Given the description of an element on the screen output the (x, y) to click on. 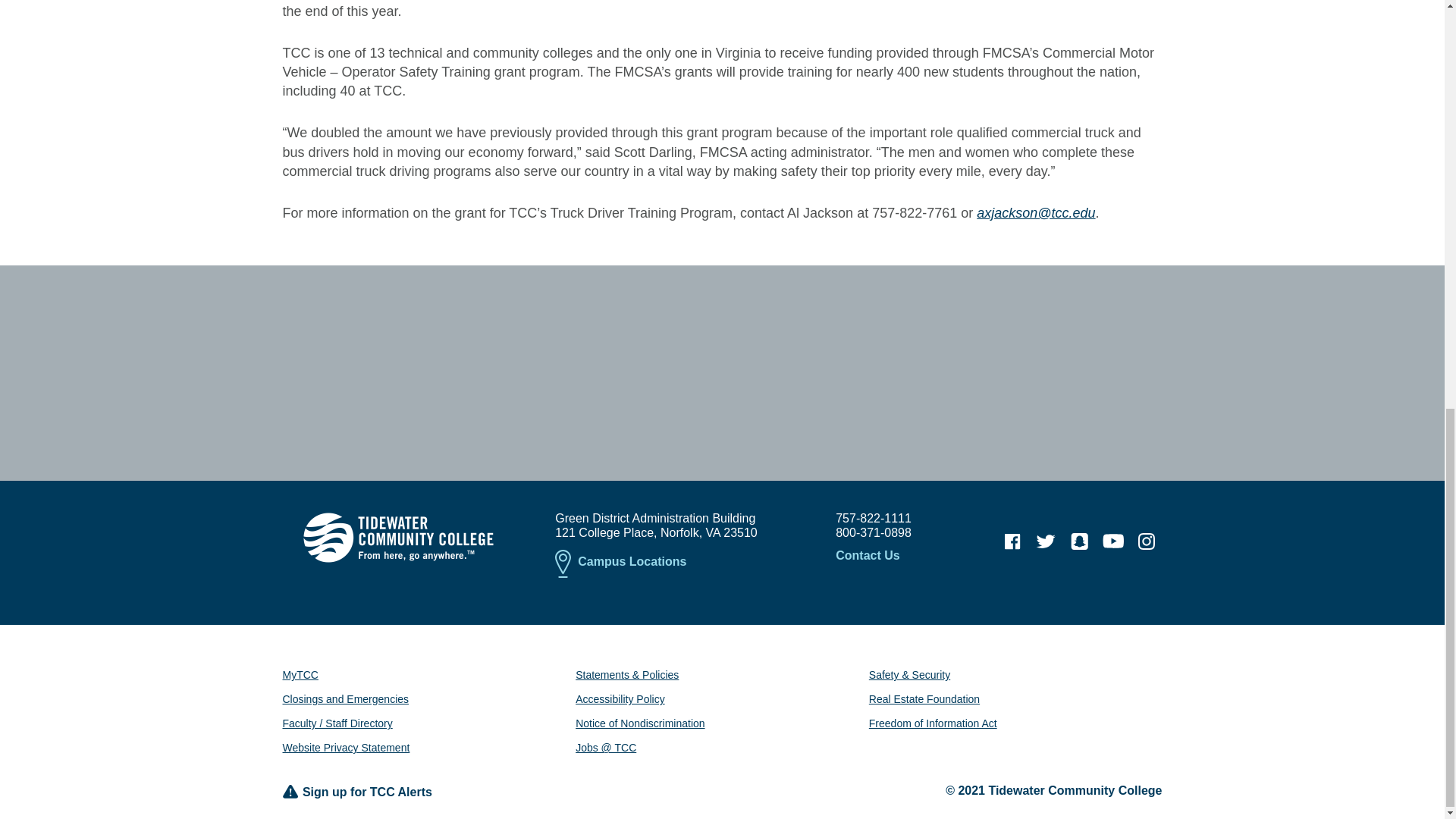
Tidewater Community College (398, 537)
TCC on Twitter (1045, 541)
TCC on Facebook (1012, 541)
TCC on Instagram (1146, 541)
TCC on Snapchat (1079, 541)
TCC on YouTube (1112, 541)
